Given the description of an element on the screen output the (x, y) to click on. 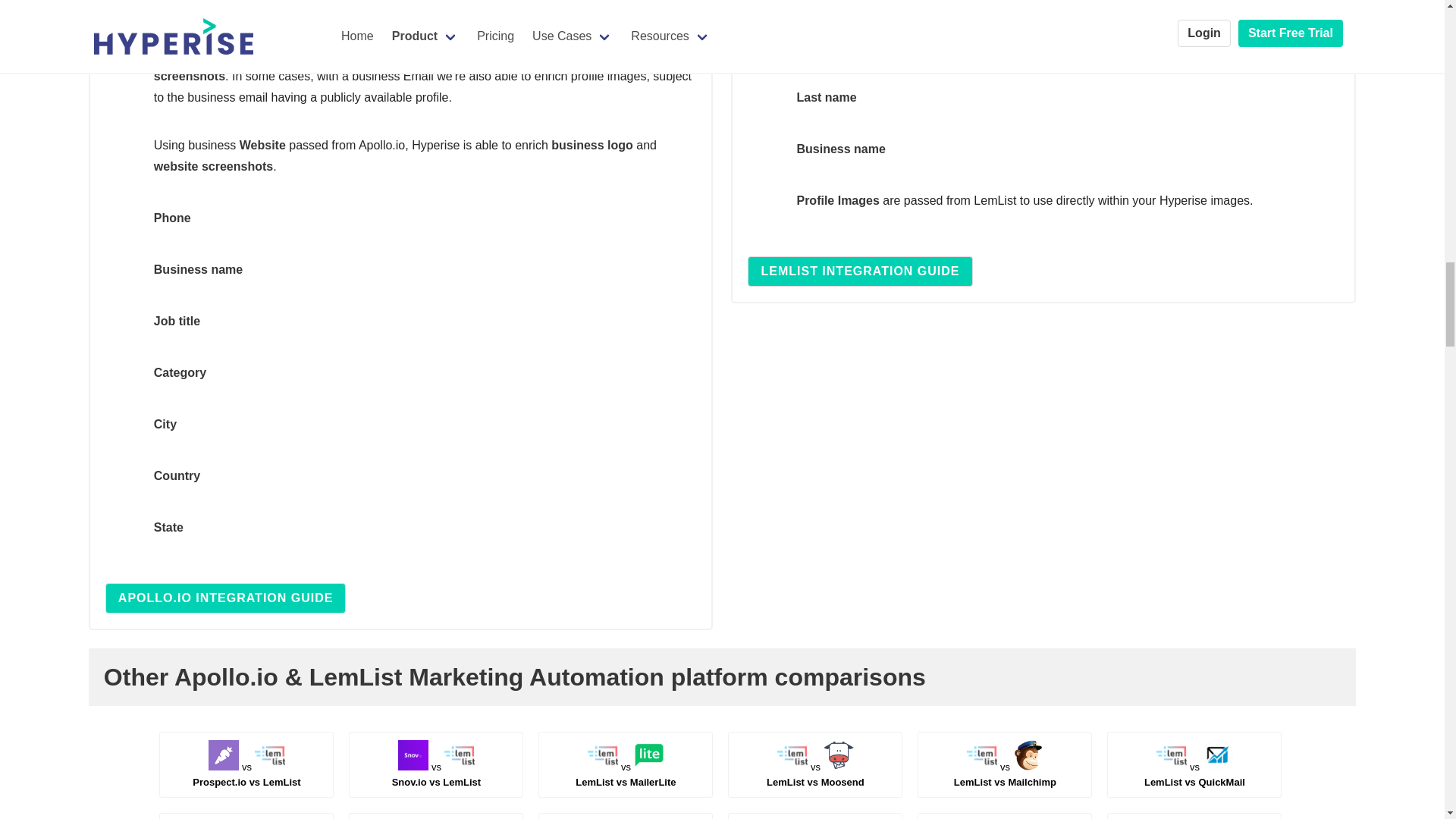
LEMLIST INTEGRATION GUIDE (860, 271)
Prospect.io vs LemList (625, 774)
LemList vs QuickMail (1005, 774)
LemList vs MailerLite (436, 774)
LemList vs Mailchimp (245, 774)
LemList vs Moosend (1194, 774)
APOLLO.IO INTEGRATION GUIDE (625, 774)
Snov.io vs LemList (1005, 774)
